Given the description of an element on the screen output the (x, y) to click on. 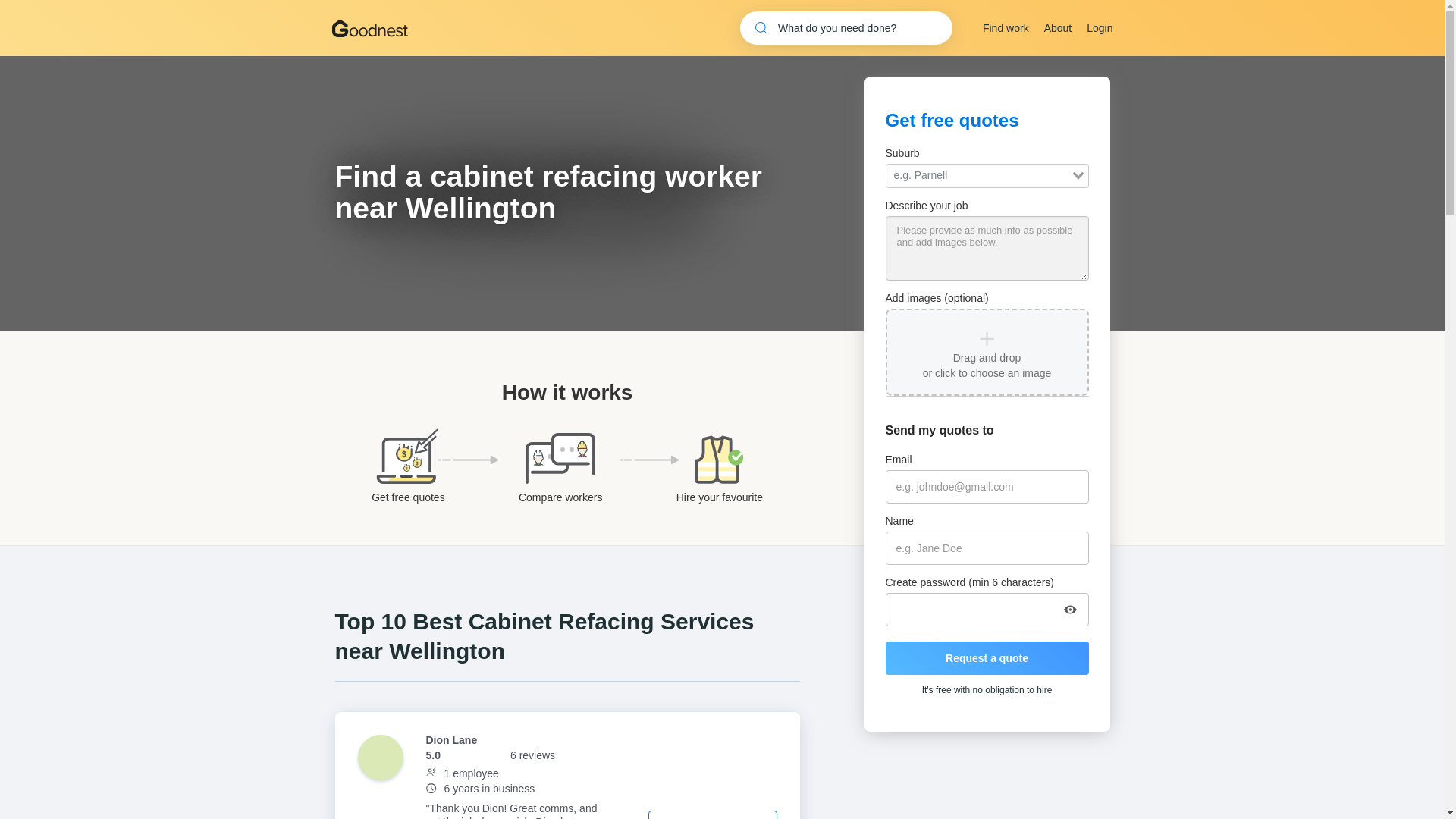
About (1057, 28)
Goodnest Logo (369, 27)
Login (1099, 28)
Find work (1005, 28)
View profile (712, 814)
Request a quote (987, 657)
